Given the description of an element on the screen output the (x, y) to click on. 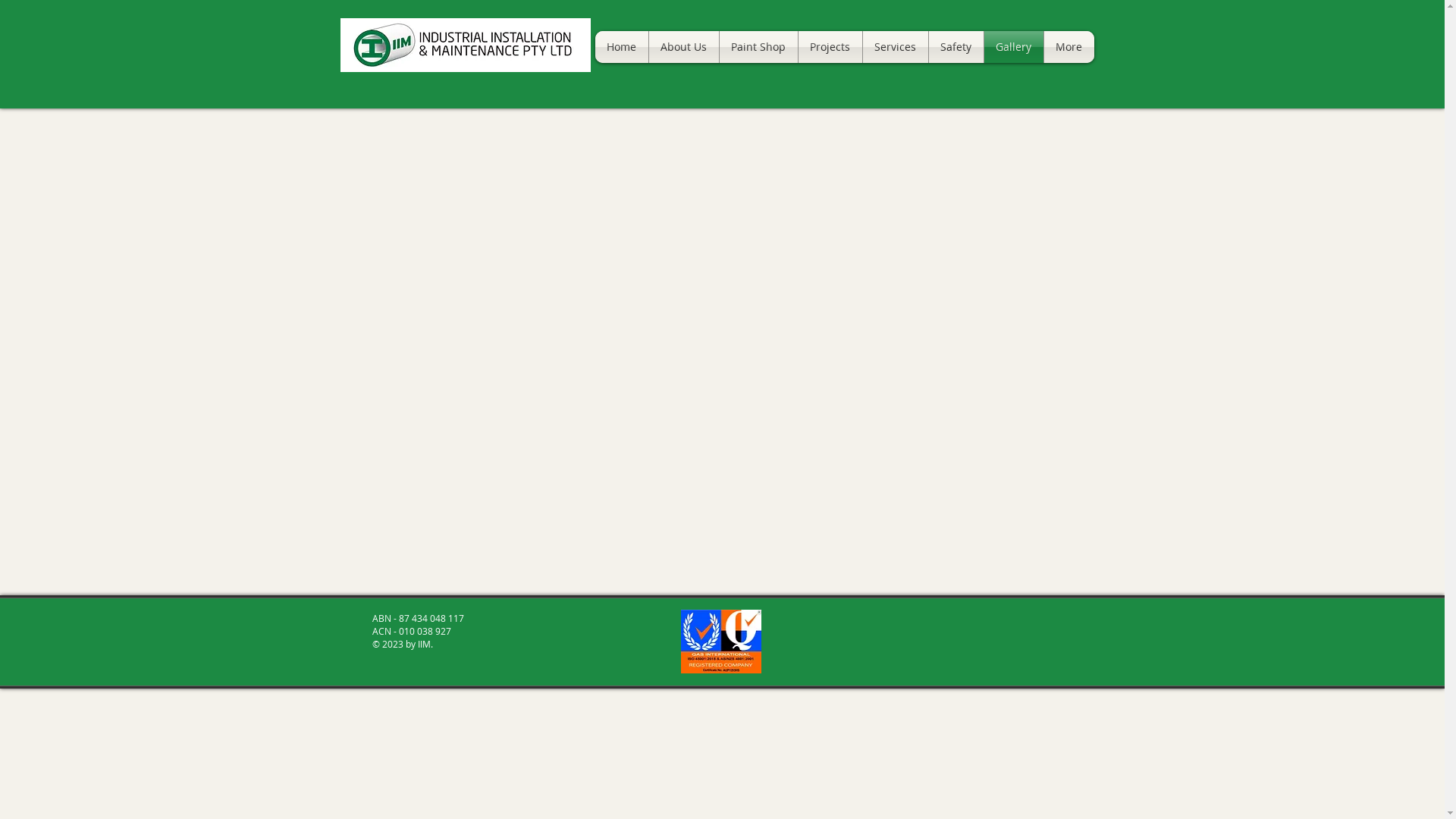
Gallery Element type: text (1013, 46)
Home Element type: text (620, 46)
Projects Element type: text (829, 46)
Services Element type: text (895, 46)
Safety Element type: text (955, 46)
logo_text.jpg Element type: hover (464, 45)
Paint Shop Element type: text (757, 46)
About Us Element type: text (683, 46)
